Given the description of an element on the screen output the (x, y) to click on. 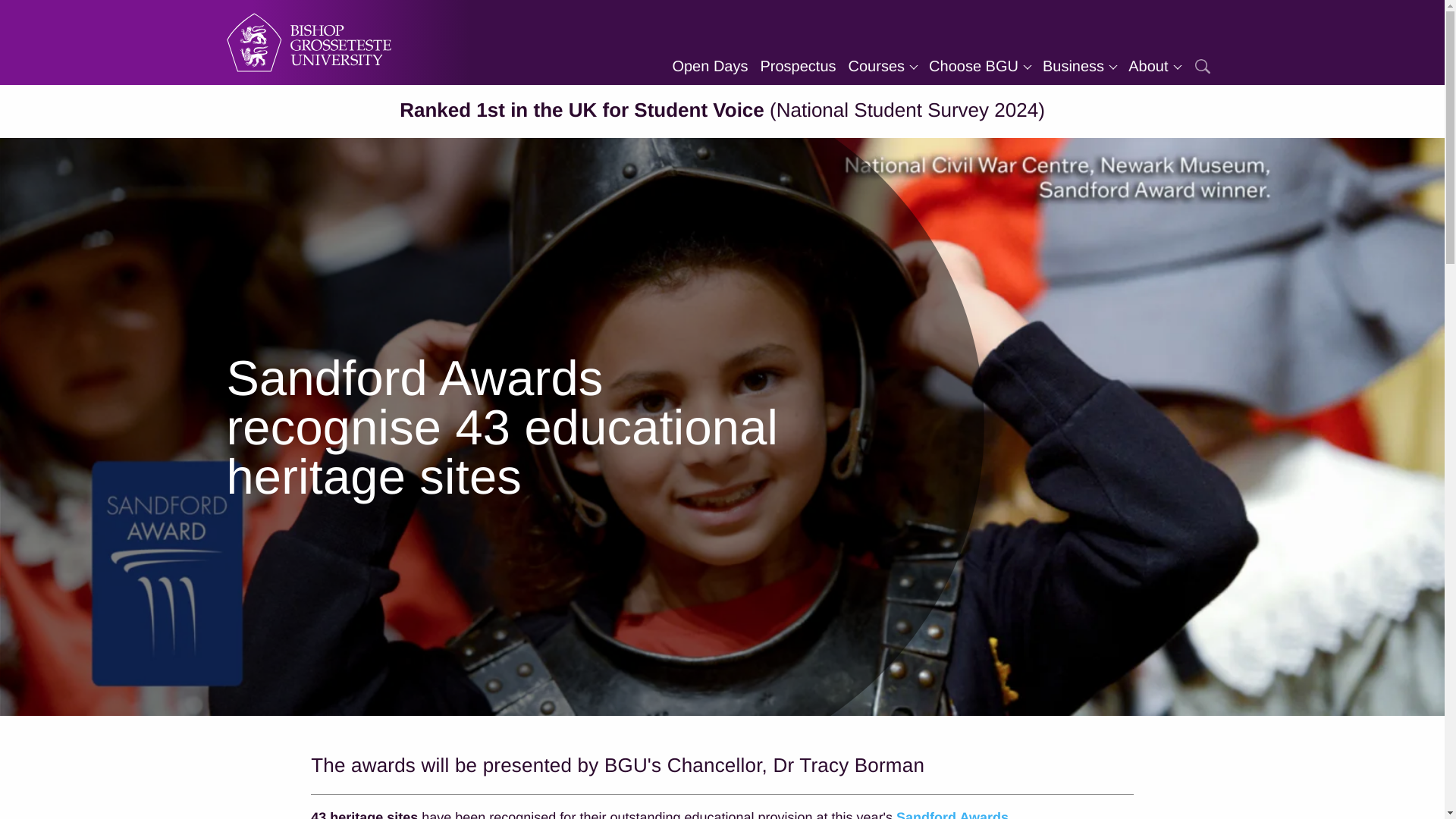
Open Days (709, 66)
Search (1201, 66)
Courses (883, 66)
Choose BGU (979, 66)
Prospectus (797, 66)
Return to homepage (307, 42)
